Given the description of an element on the screen output the (x, y) to click on. 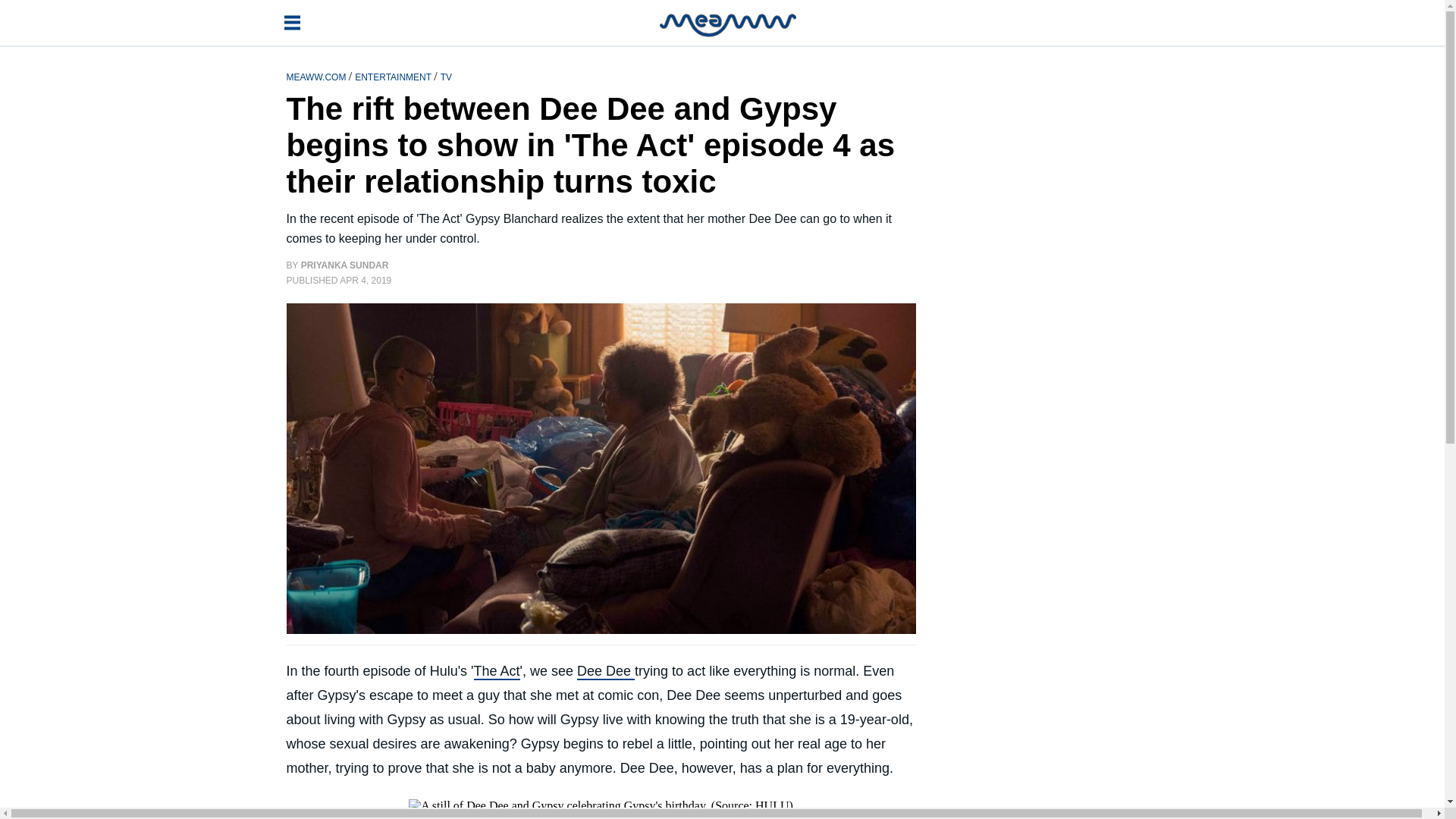
PRIYANKA SUNDAR (344, 265)
MEAWW.COM (317, 75)
The Act (496, 671)
ENTERTAINMENT (394, 75)
Dee Dee (605, 671)
